Given the description of an element on the screen output the (x, y) to click on. 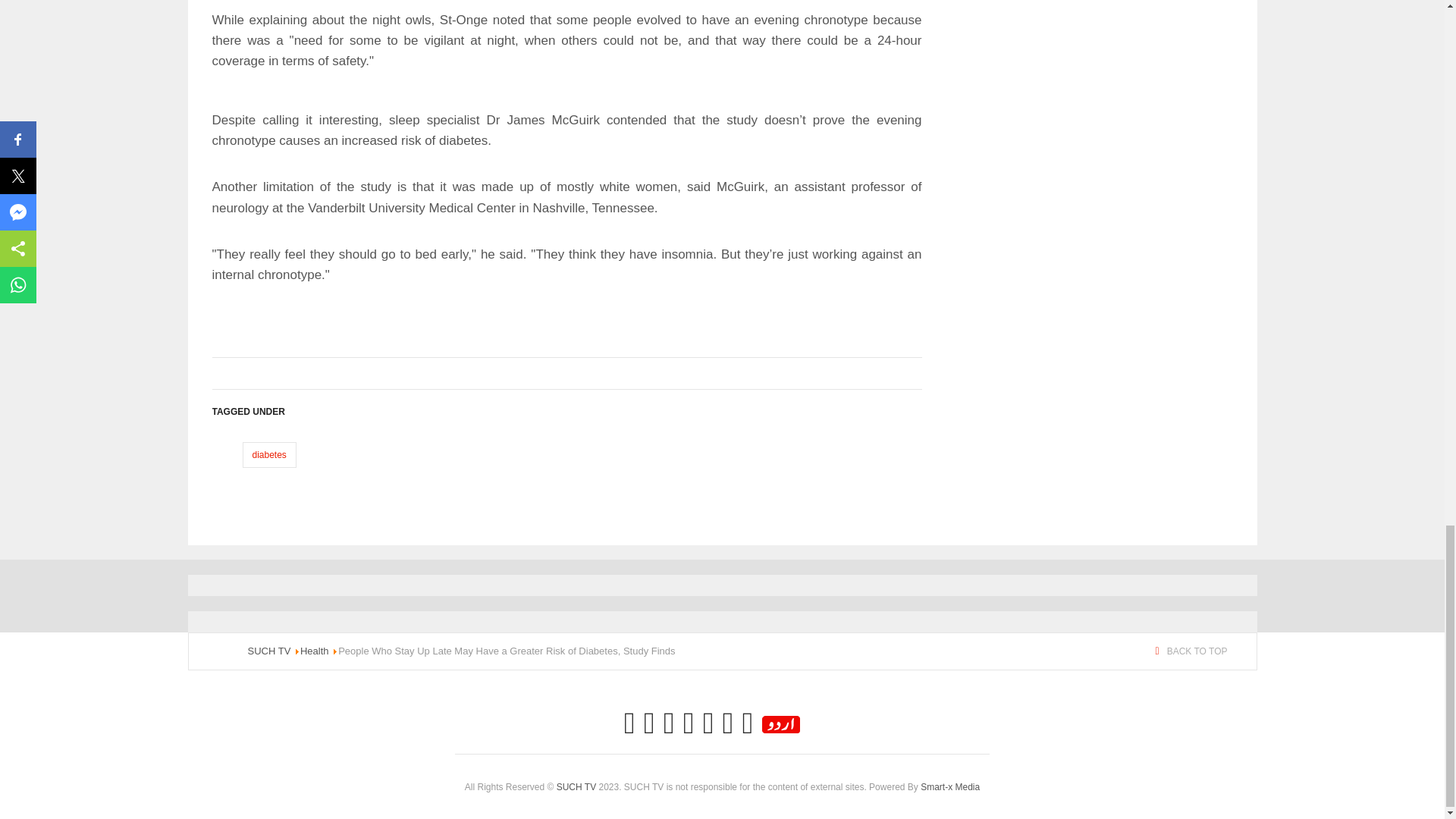
BACK TO TOP (1191, 651)
diabetes (269, 454)
SUCH TV (268, 650)
Health (314, 650)
